Given the description of an element on the screen output the (x, y) to click on. 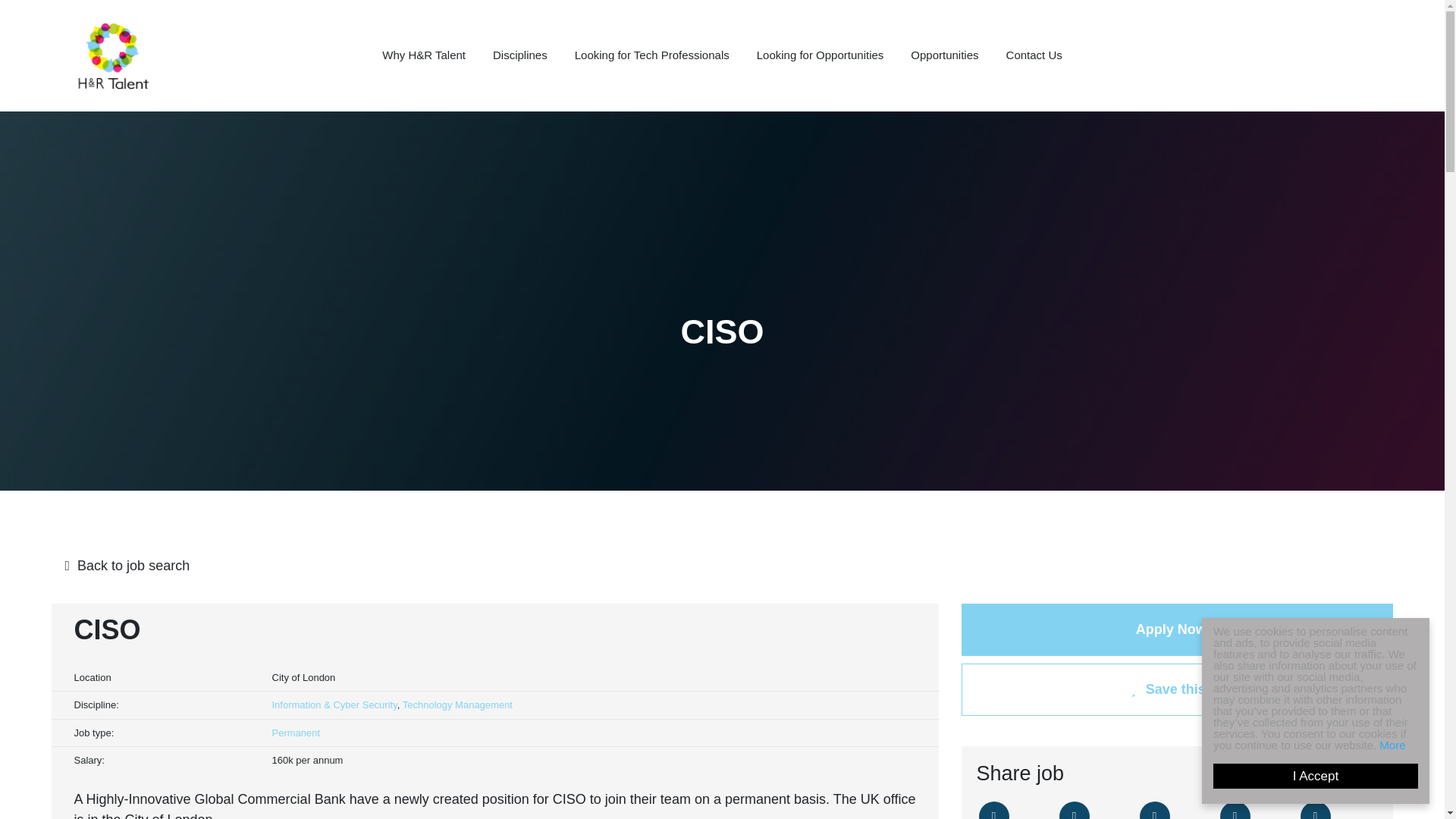
I Accept (1329, 775)
Tweet this (993, 810)
share on Facebook (1073, 810)
send in Whatsapp (1315, 810)
More (1406, 744)
share on LinkedIn (1153, 810)
Email (1234, 810)
